Given the description of an element on the screen output the (x, y) to click on. 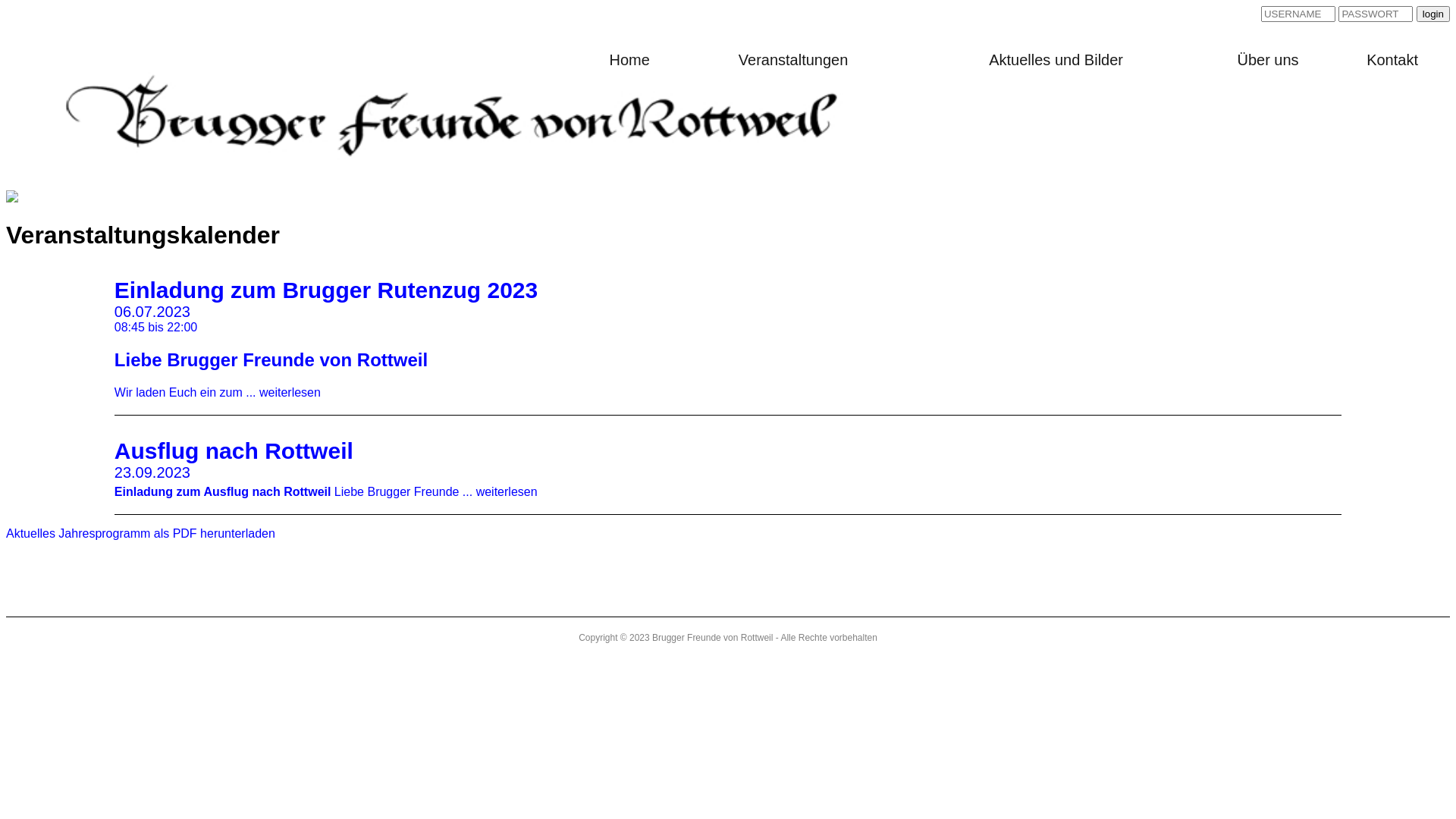
Aktuelles und Bilder Element type: text (1055, 59)
Home Element type: text (629, 59)
Aktuelles Jahresprogramm als PDF herunterladen Element type: text (140, 533)
Kontakt Element type: text (1392, 59)
Veranstaltungen Element type: text (793, 59)
login Element type: text (1432, 13)
